Given the description of an element on the screen output the (x, y) to click on. 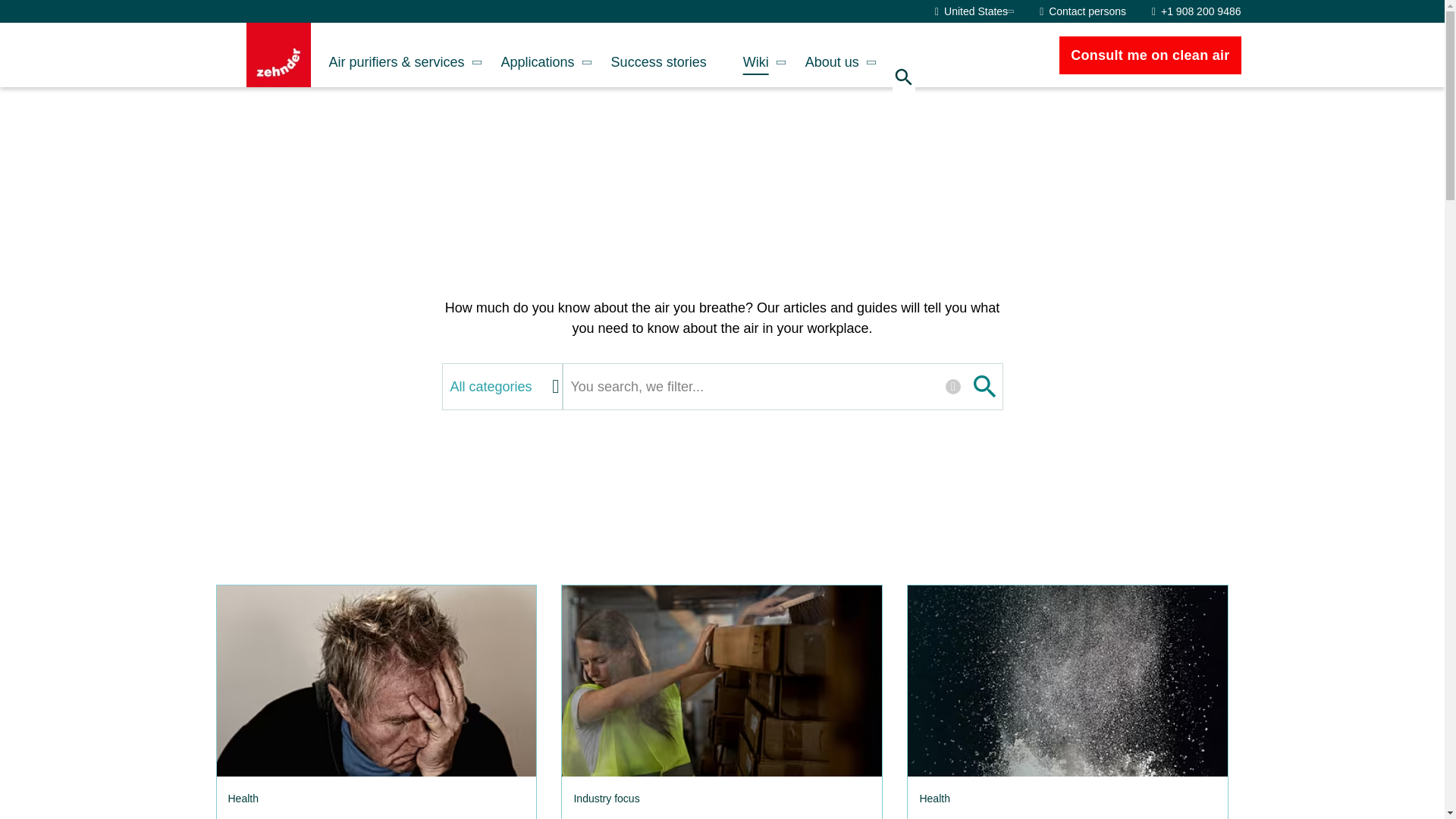
Success stories (658, 54)
Contact persons (1082, 10)
Wiki (756, 54)
Applications (537, 54)
The harmful mental health effects of air pollution (375, 680)
About us (832, 54)
